Given the description of an element on the screen output the (x, y) to click on. 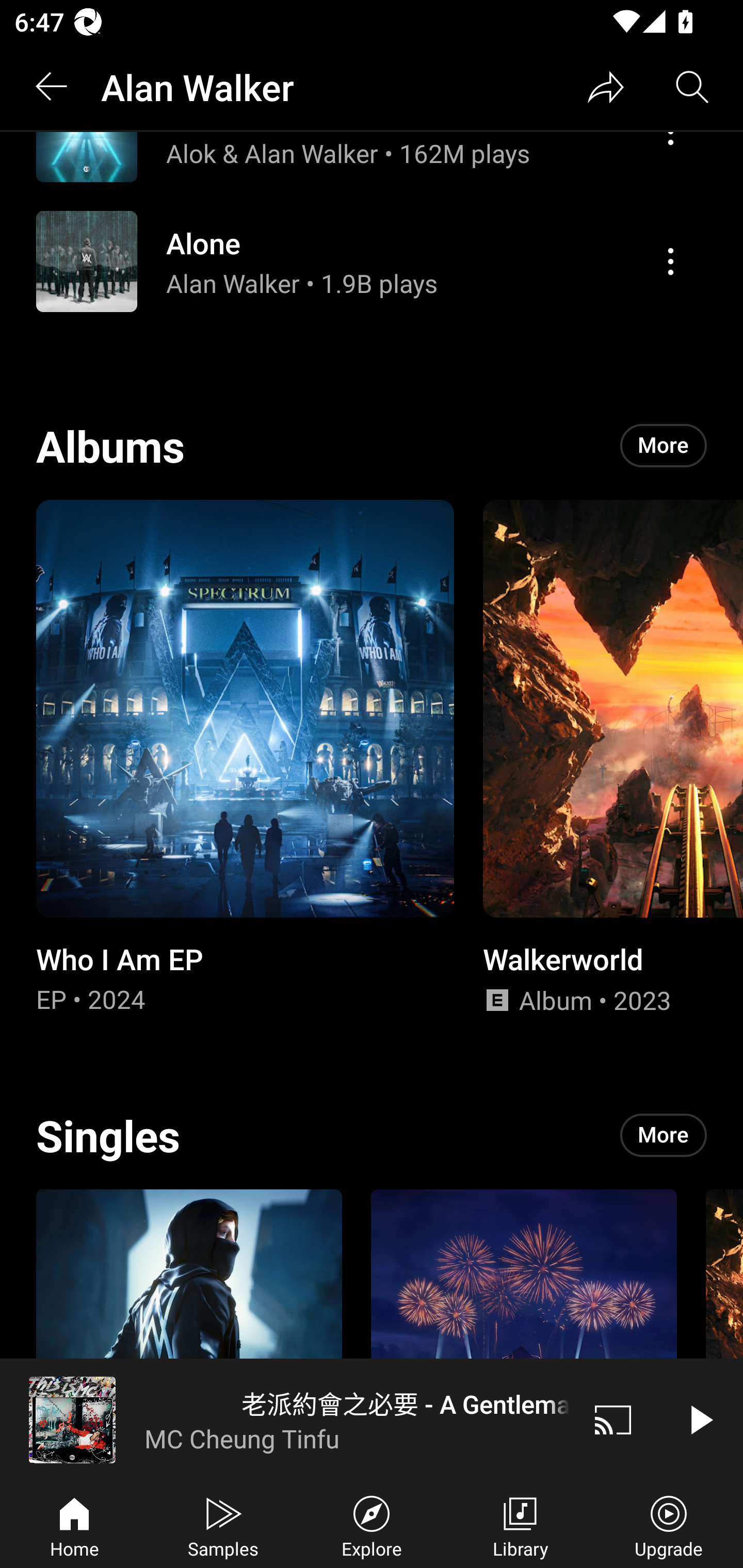
Back (50, 86)
Share (605, 86)
Search (692, 86)
Action menu (371, 261)
Action menu (670, 261)
Cast. Disconnected (612, 1419)
Play video (699, 1419)
Home (74, 1524)
Samples (222, 1524)
Explore (371, 1524)
Library (519, 1524)
Upgrade (668, 1524)
